Given the description of an element on the screen output the (x, y) to click on. 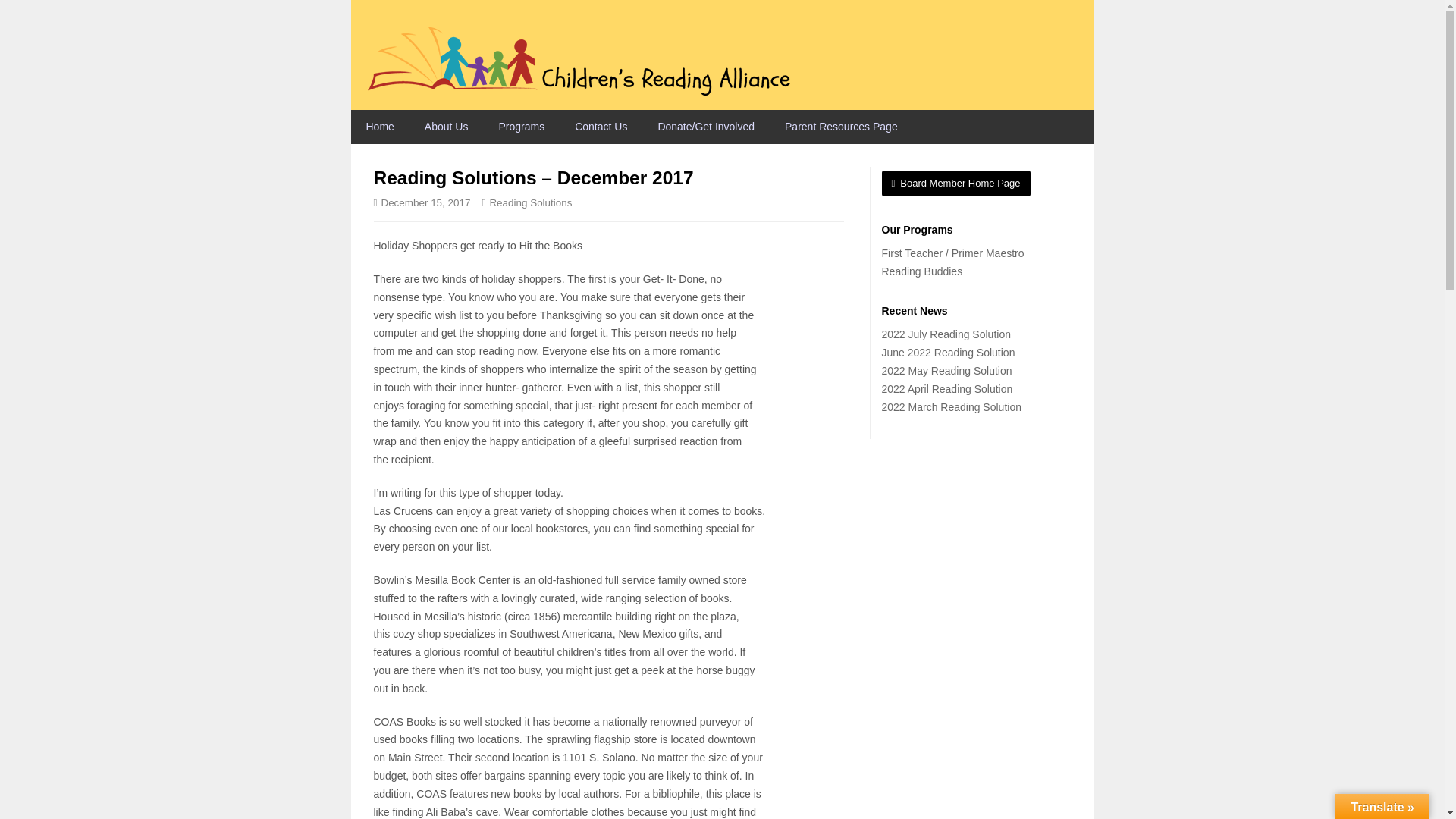
2022 March Reading Solution (950, 407)
About Us (446, 126)
Contact Us (600, 126)
Board Member Home Page (954, 183)
Reading Buddies (921, 271)
2022 May Reading Solution (945, 370)
Reading Solutions (530, 202)
2022 July Reading Solution (945, 334)
Home (379, 126)
Parent Resources Page (841, 126)
Reading Solutions (530, 202)
2022 April Reading Solution (945, 388)
Programs (521, 126)
June 2022 Reading Solution (947, 352)
Visit Site (954, 183)
